Given the description of an element on the screen output the (x, y) to click on. 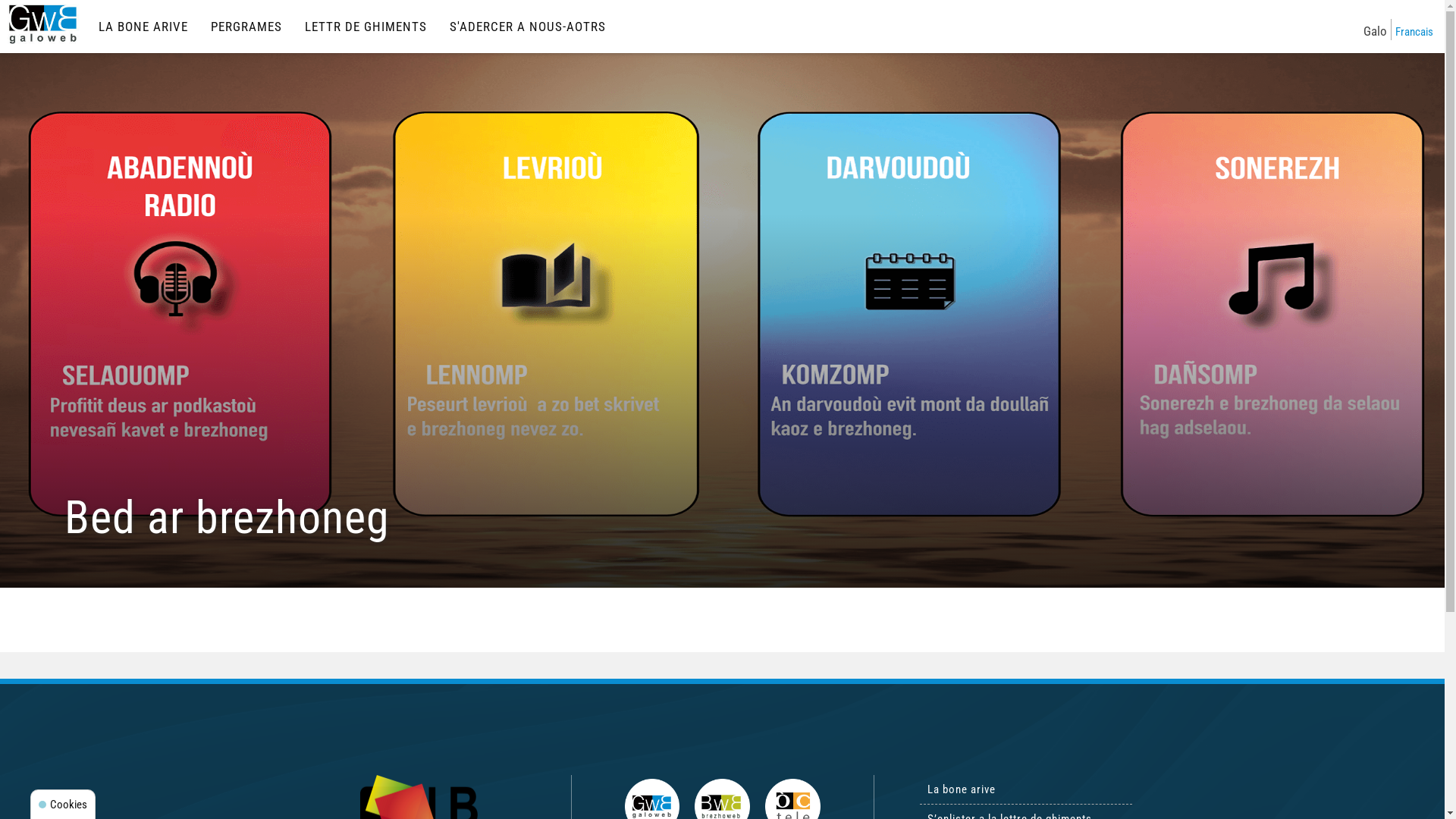
LETTR DE GHIMENTS Element type: text (365, 26)
La bone arive Element type: text (1025, 789)
LA BONE ARIVE Element type: text (143, 26)
S'ADERCER A NOUS-AOTRS Element type: text (527, 26)
Galoweb Element type: hover (43, 23)
Francais Element type: text (1414, 29)
